Given the description of an element on the screen output the (x, y) to click on. 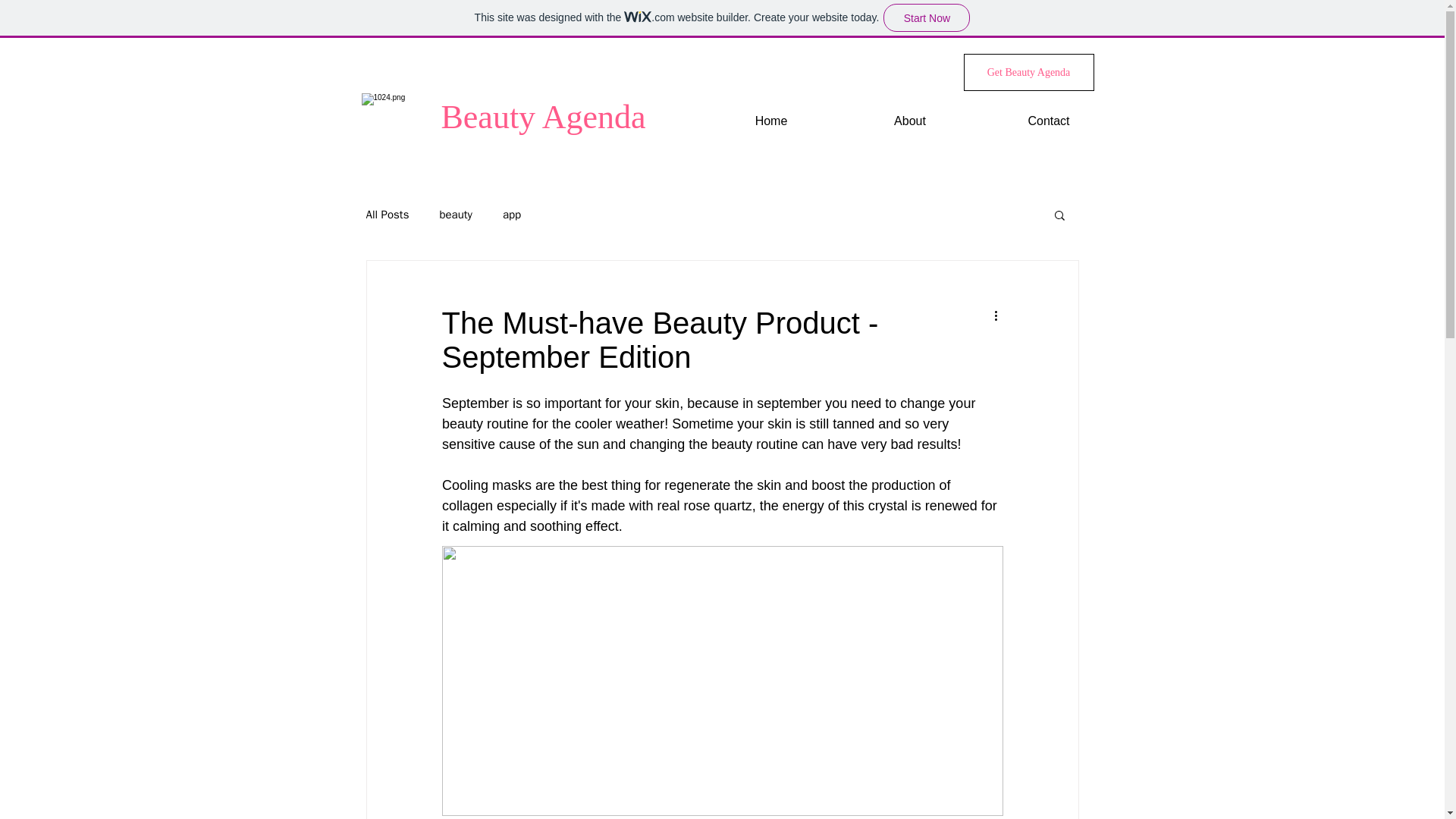
Home (771, 120)
app (511, 214)
beauty (455, 214)
All Posts (387, 214)
Get Beauty Agenda (1027, 72)
Beauty Agenda (543, 116)
About (909, 120)
Contact (1048, 120)
